Given the description of an element on the screen output the (x, y) to click on. 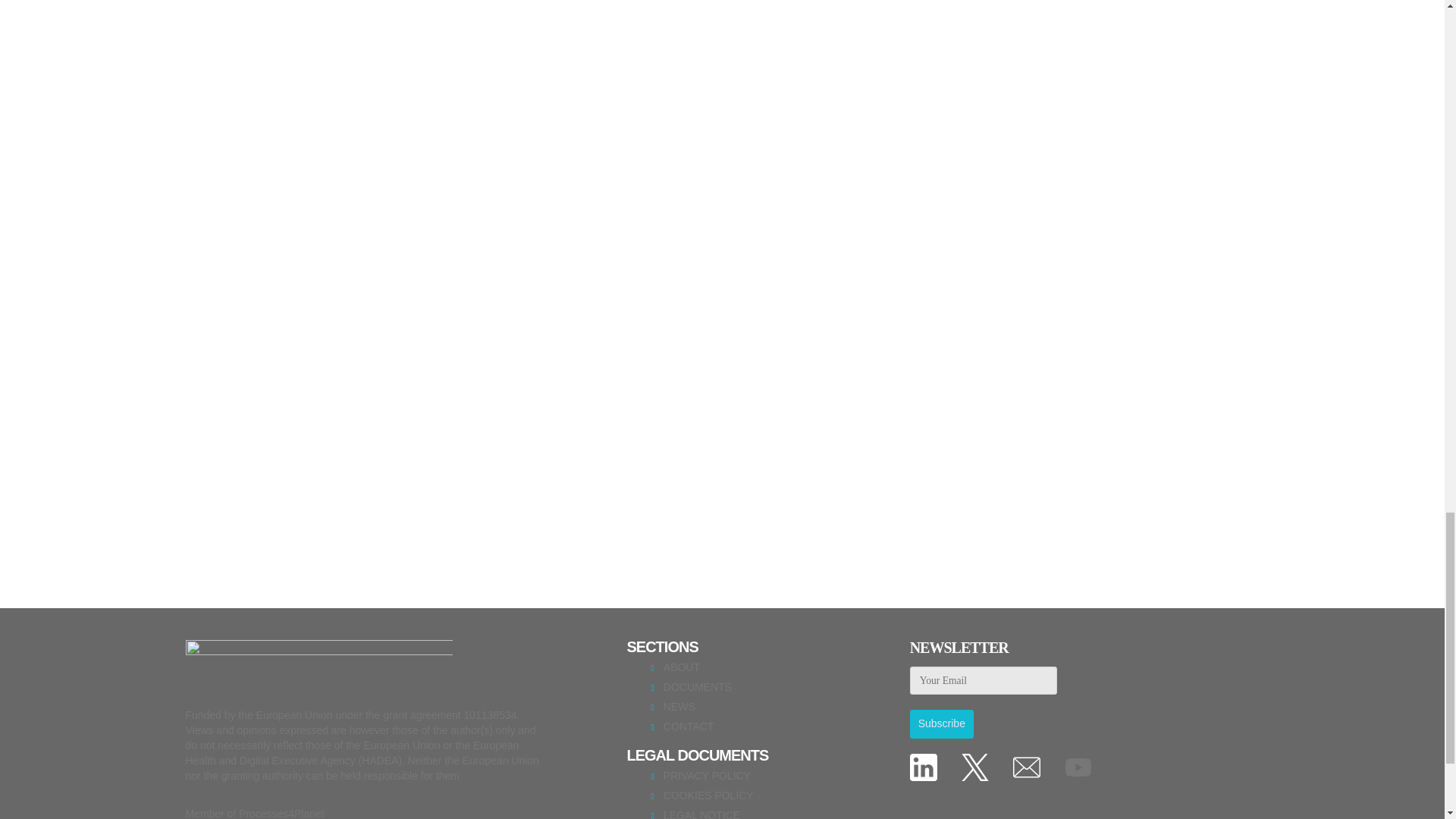
Subscribe (942, 724)
